Given the description of an element on the screen output the (x, y) to click on. 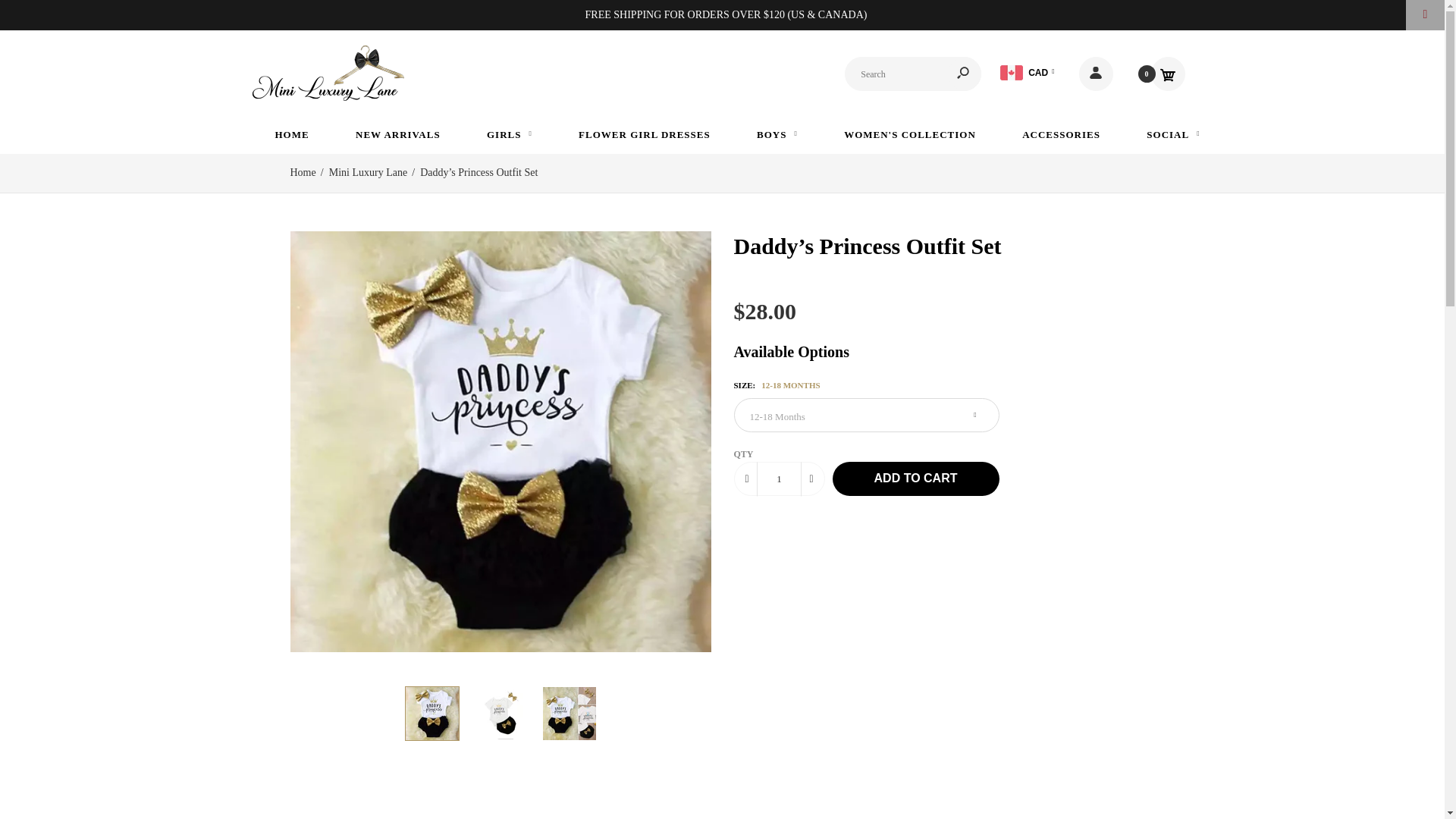
NEW ARRIVALS (390, 134)
HOME (283, 134)
Mini Luxury Lane (327, 97)
GIRLS (501, 134)
Add to cart (915, 478)
Mini Luxury Lane (327, 72)
1 (779, 478)
